Given the description of an element on the screen output the (x, y) to click on. 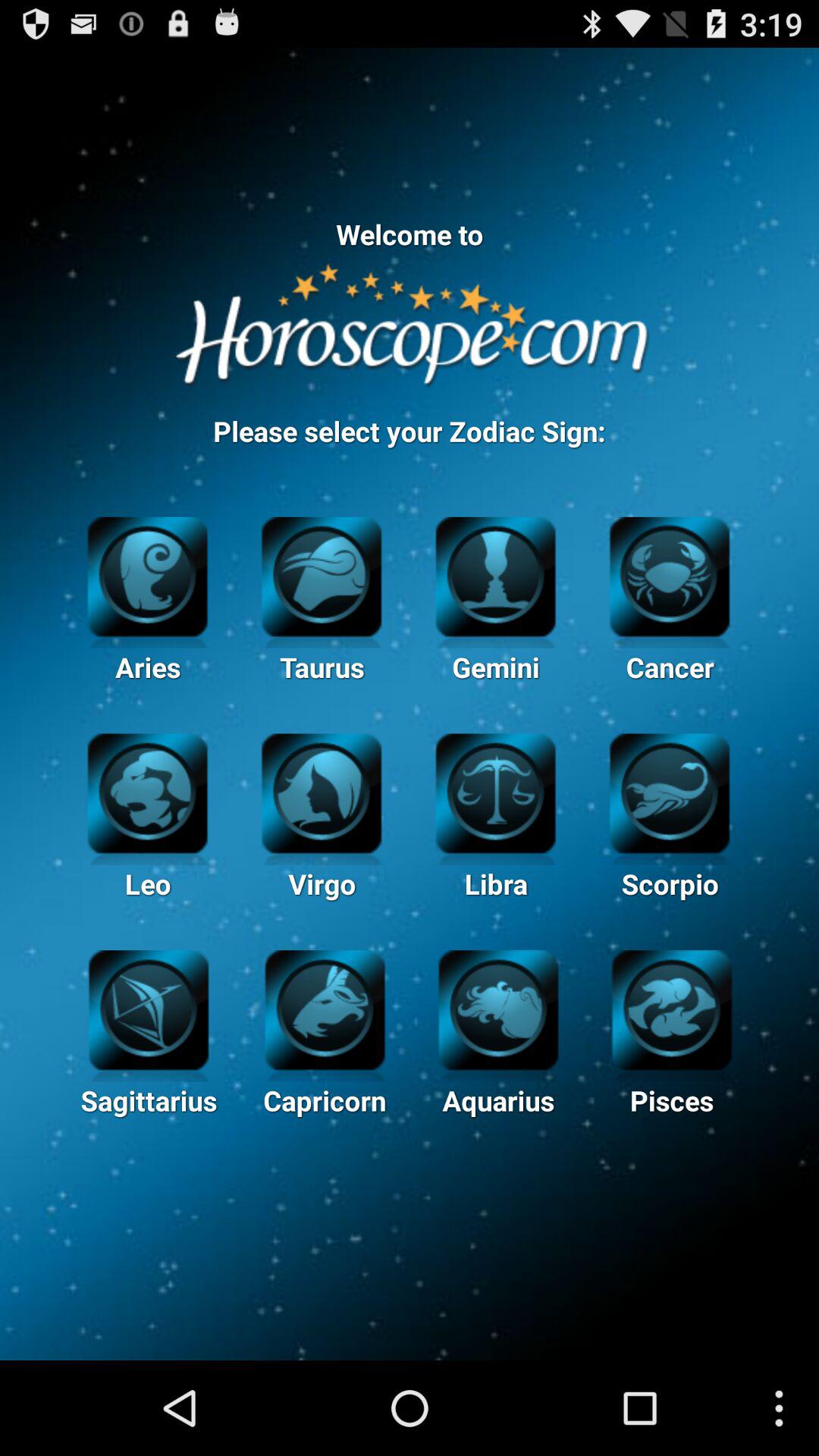
click pisces (671, 1007)
